Given the description of an element on the screen output the (x, y) to click on. 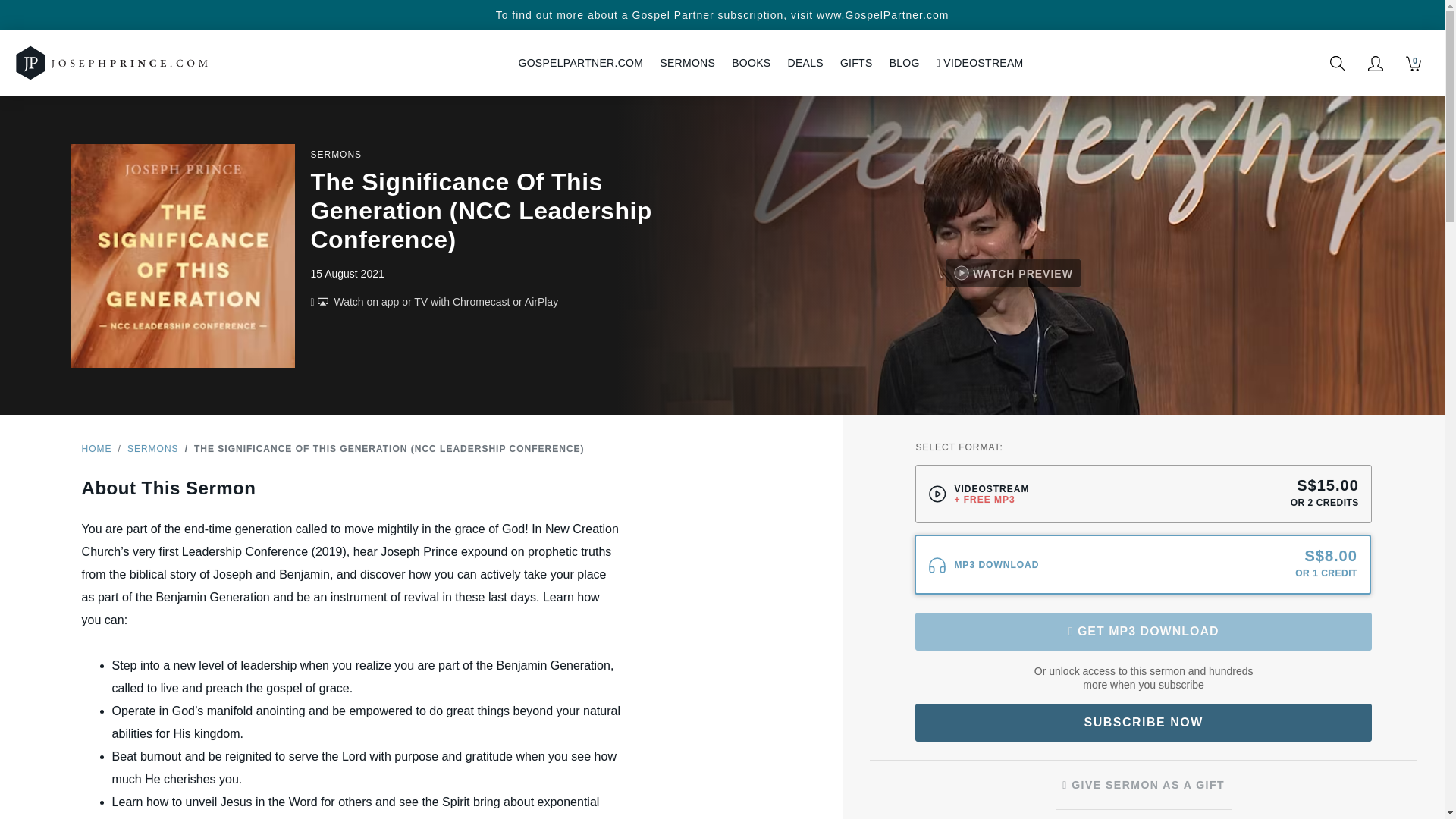
0 (1413, 63)
20210815VJ (958, 482)
GIFTS (855, 62)
BLOG (904, 62)
DEALS (804, 62)
BOOKS (750, 62)
 VIDEOSTREAM (980, 62)
GOSPELPARTNER.COM (579, 62)
20210815M3 (958, 552)
SERMONS (686, 62)
